Given the description of an element on the screen output the (x, y) to click on. 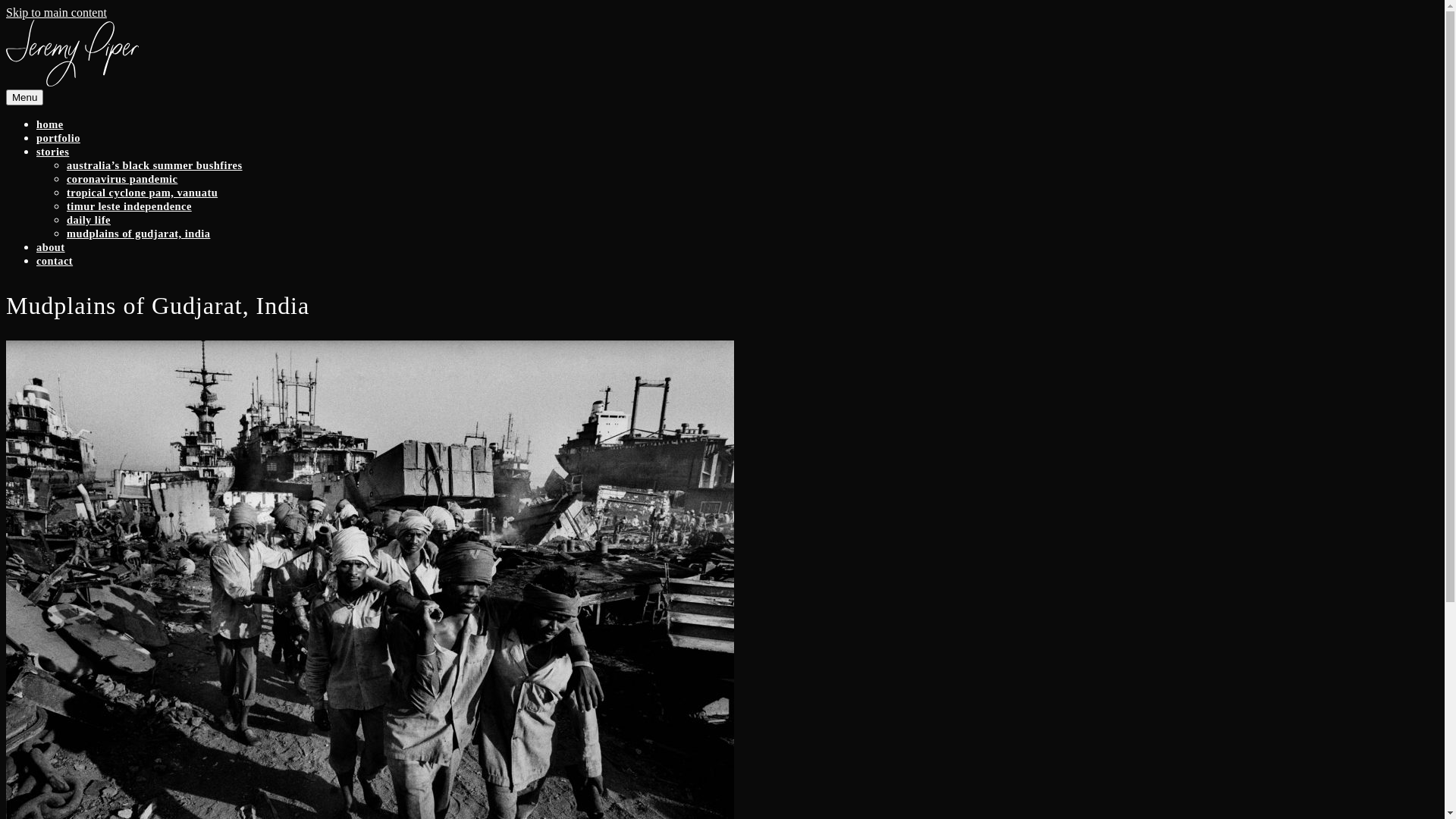
stories Element type: text (52, 151)
timur leste independence Element type: text (128, 206)
coronavirus pandemic Element type: text (121, 178)
contact Element type: text (54, 260)
home Element type: text (49, 124)
Menu Element type: text (24, 97)
daily life Element type: text (88, 219)
about Element type: text (50, 247)
tropical cyclone pam, vanuatu Element type: text (141, 192)
Skip to main content Element type: text (56, 12)
mudplains of gudjarat, india Element type: text (138, 233)
portfolio Element type: text (58, 137)
